Given the description of an element on the screen output the (x, y) to click on. 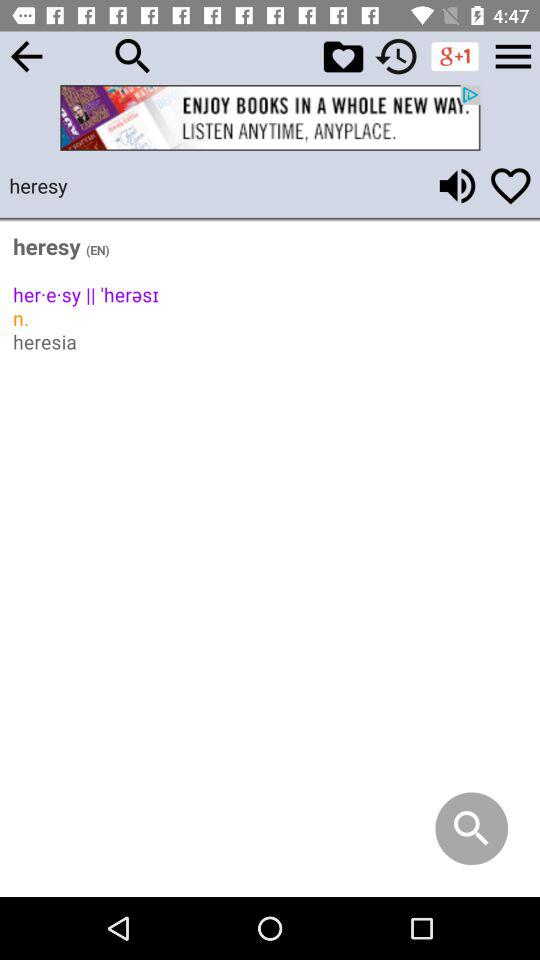
open more options menu (513, 56)
